Given the description of an element on the screen output the (x, y) to click on. 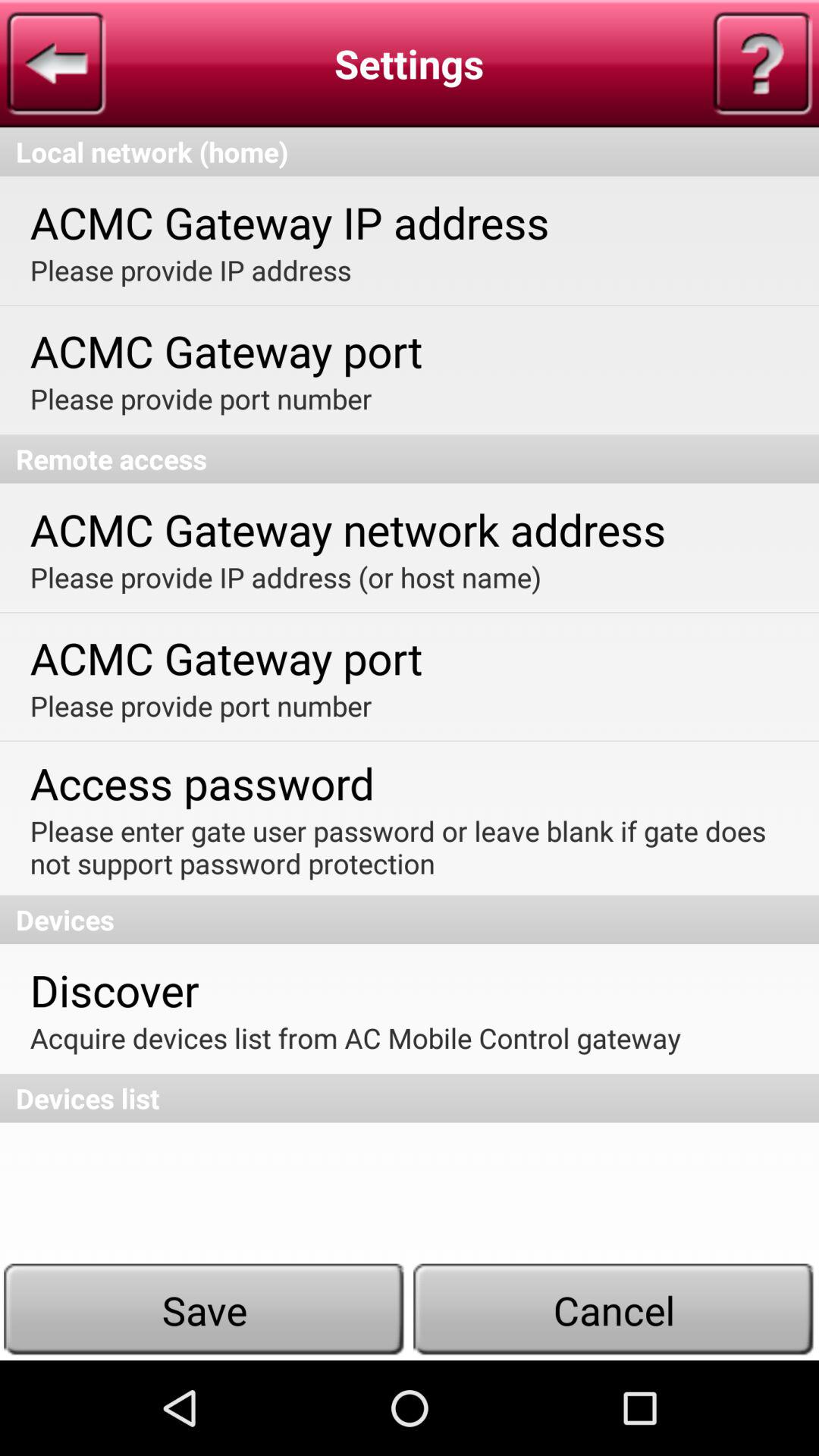
tap app above the please enter gate (202, 782)
